Given the description of an element on the screen output the (x, y) to click on. 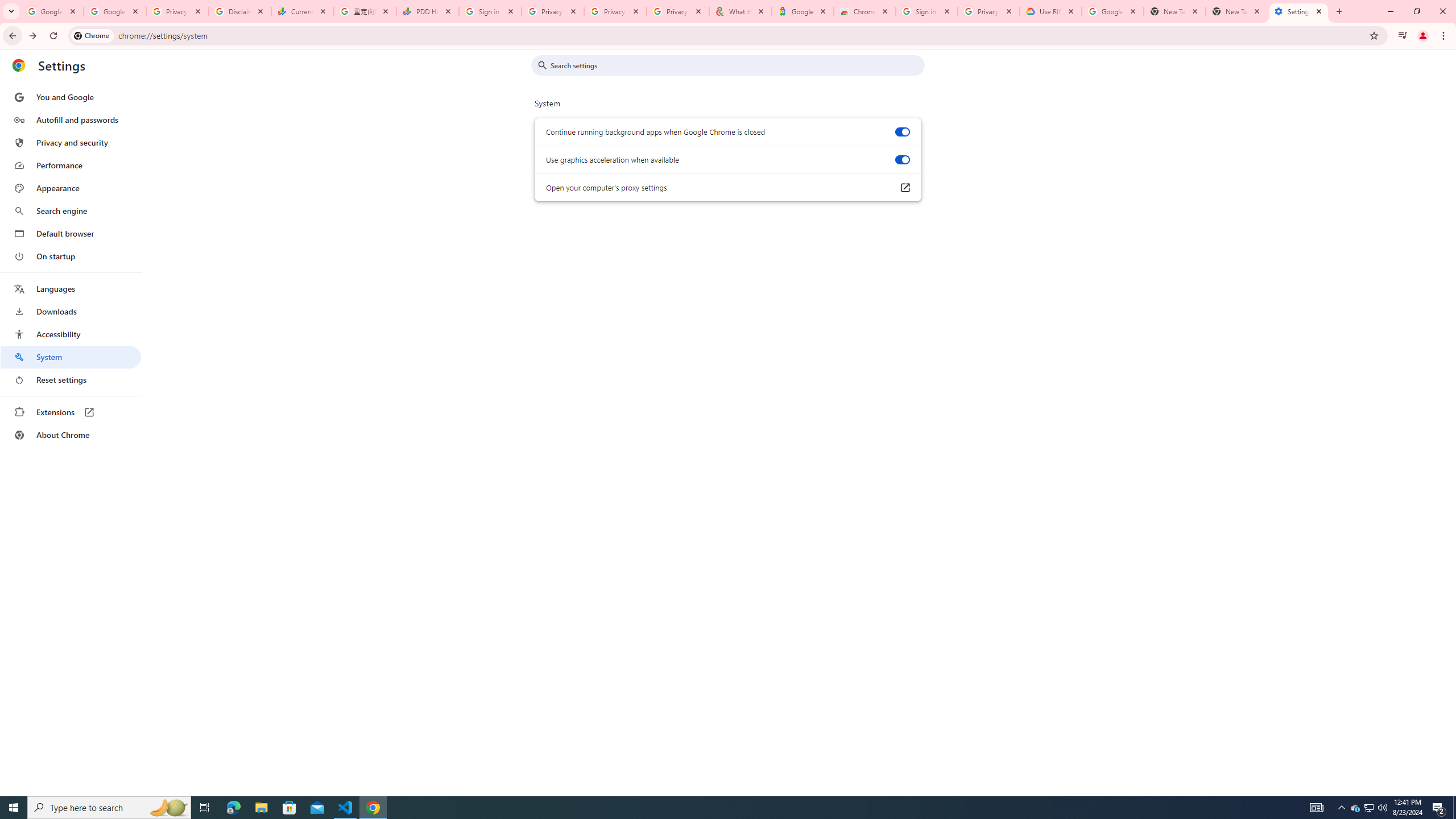
Autofill and passwords (70, 119)
Use graphics acceleration when available (901, 159)
About Chrome (70, 434)
Privacy Checkup (615, 11)
Google Workspace Admin Community (52, 11)
Open your computer's proxy settings (904, 187)
Appearance (70, 187)
New Tab (1236, 11)
